Given the description of an element on the screen output the (x, y) to click on. 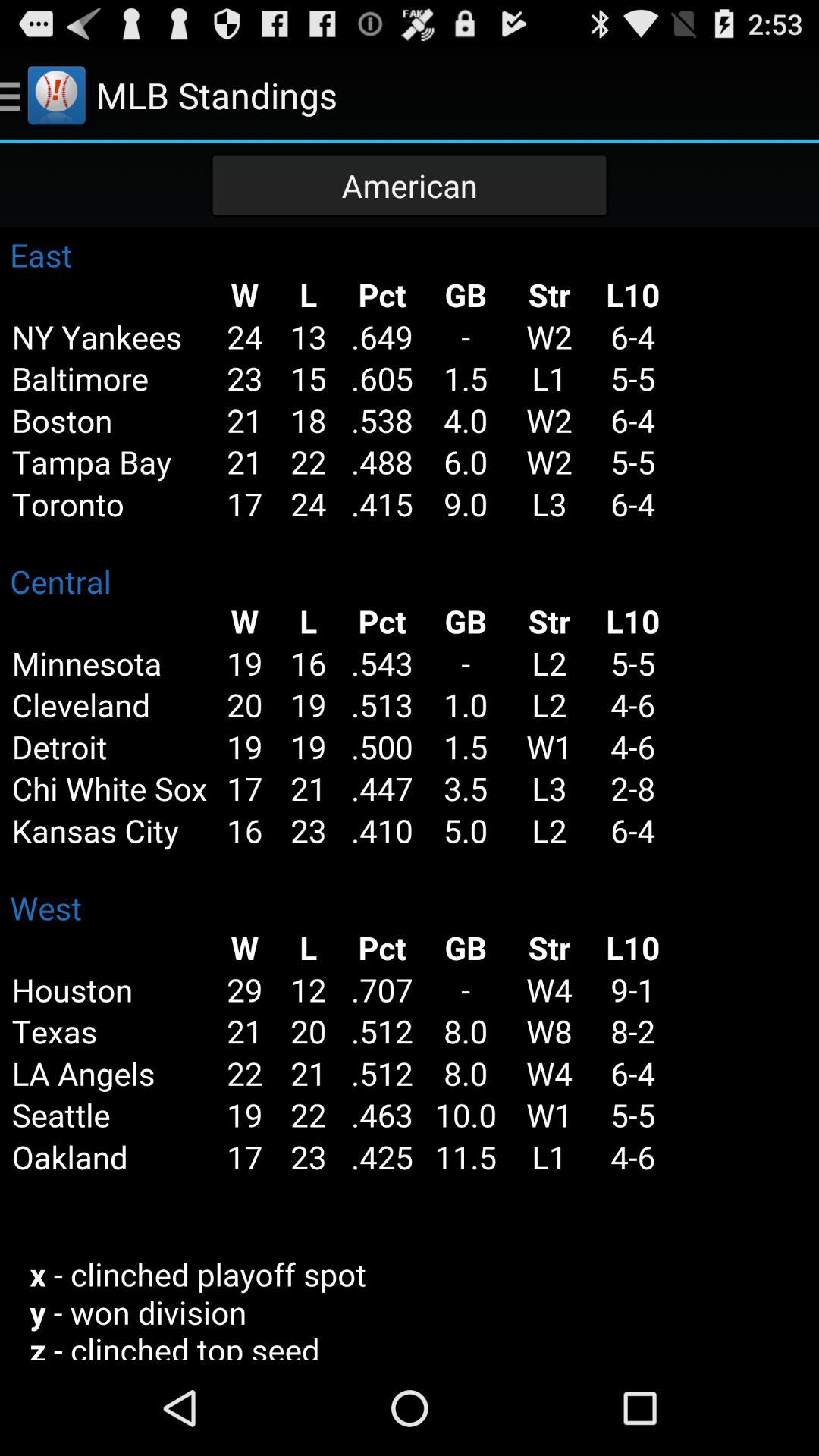
go to team 's standings (409, 793)
